Given the description of an element on the screen output the (x, y) to click on. 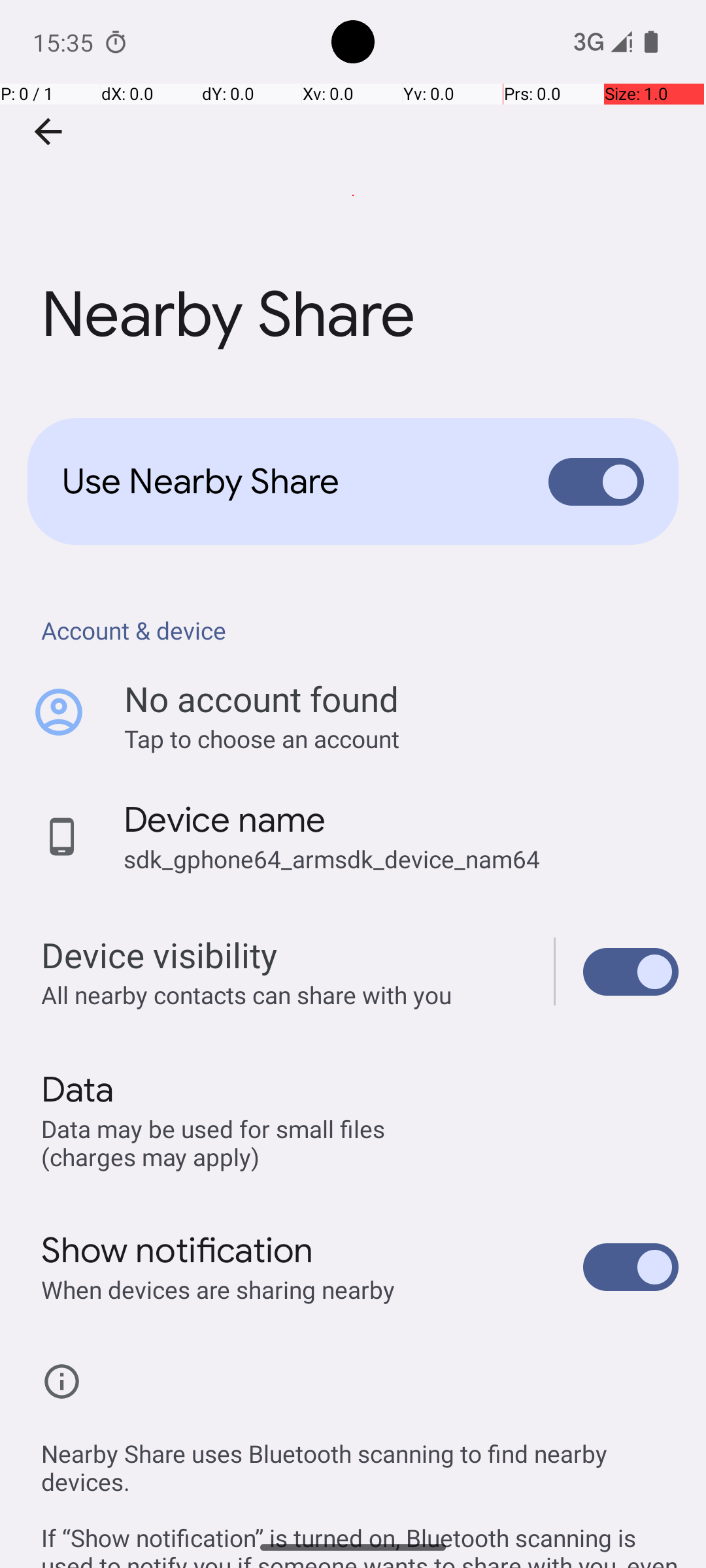
Use Nearby Share Element type: android.widget.TextView (284, 481)
Account & device Element type: android.widget.TextView (359, 629)
Tap to choose an account Element type: android.widget.TextView (401, 738)
sdk_gphone64_armsdk_device_nam64 Element type: android.widget.TextView (331, 858)
Data Element type: android.widget.TextView (77, 1089)
Data may be used for small files 
(charges may apply) Element type: android.widget.TextView (215, 1142)
Show notification Element type: android.widget.TextView (177, 1250)
When devices are sharing nearby Element type: android.widget.TextView (218, 1289)
Nearby Share uses Bluetooth scanning to find nearby devices. 

If “Show notification” is turned on, Bluetooth scanning is used to notify you if someone wants to share with you, even when Nearby Share is turned off. Element type: android.widget.TextView (359, 1488)
